Given the description of an element on the screen output the (x, y) to click on. 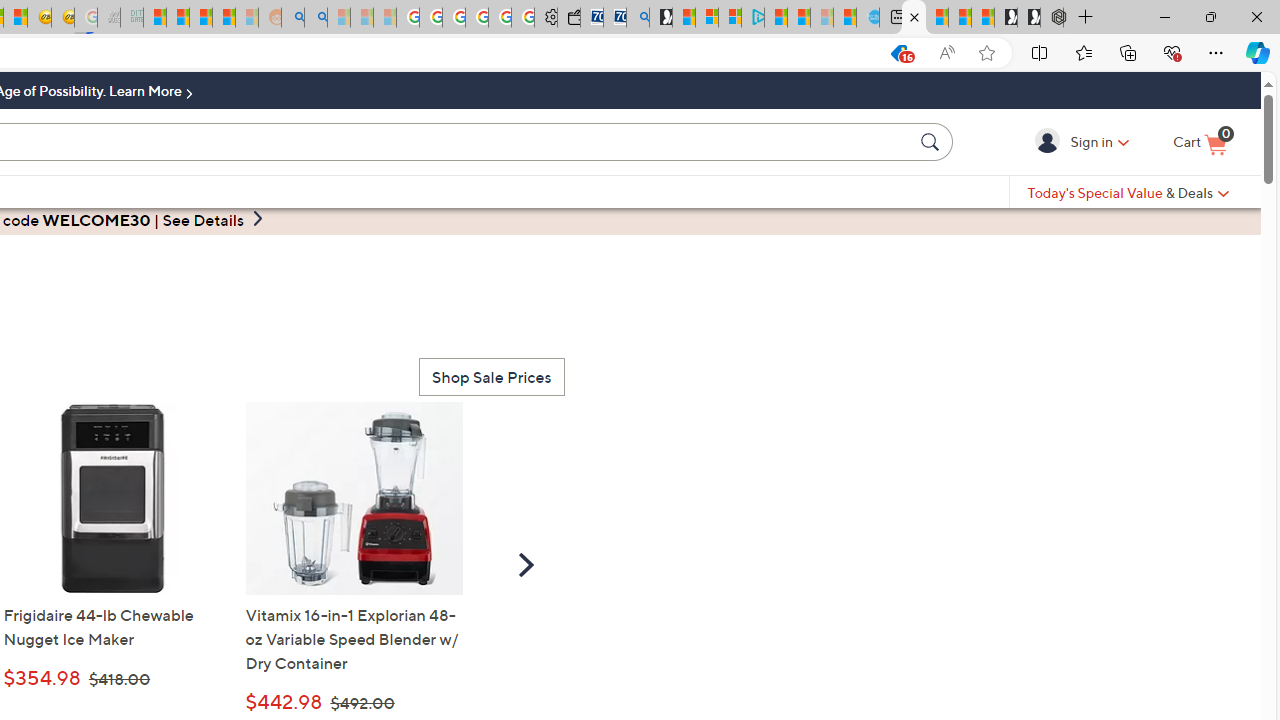
Scroll Right (525, 564)
Shop Sale Prices (491, 376)
This site has coupons! Shopping in Microsoft Edge, 16 (898, 53)
Today's Special Value & Deals (1128, 192)
